Given the description of an element on the screen output the (x, y) to click on. 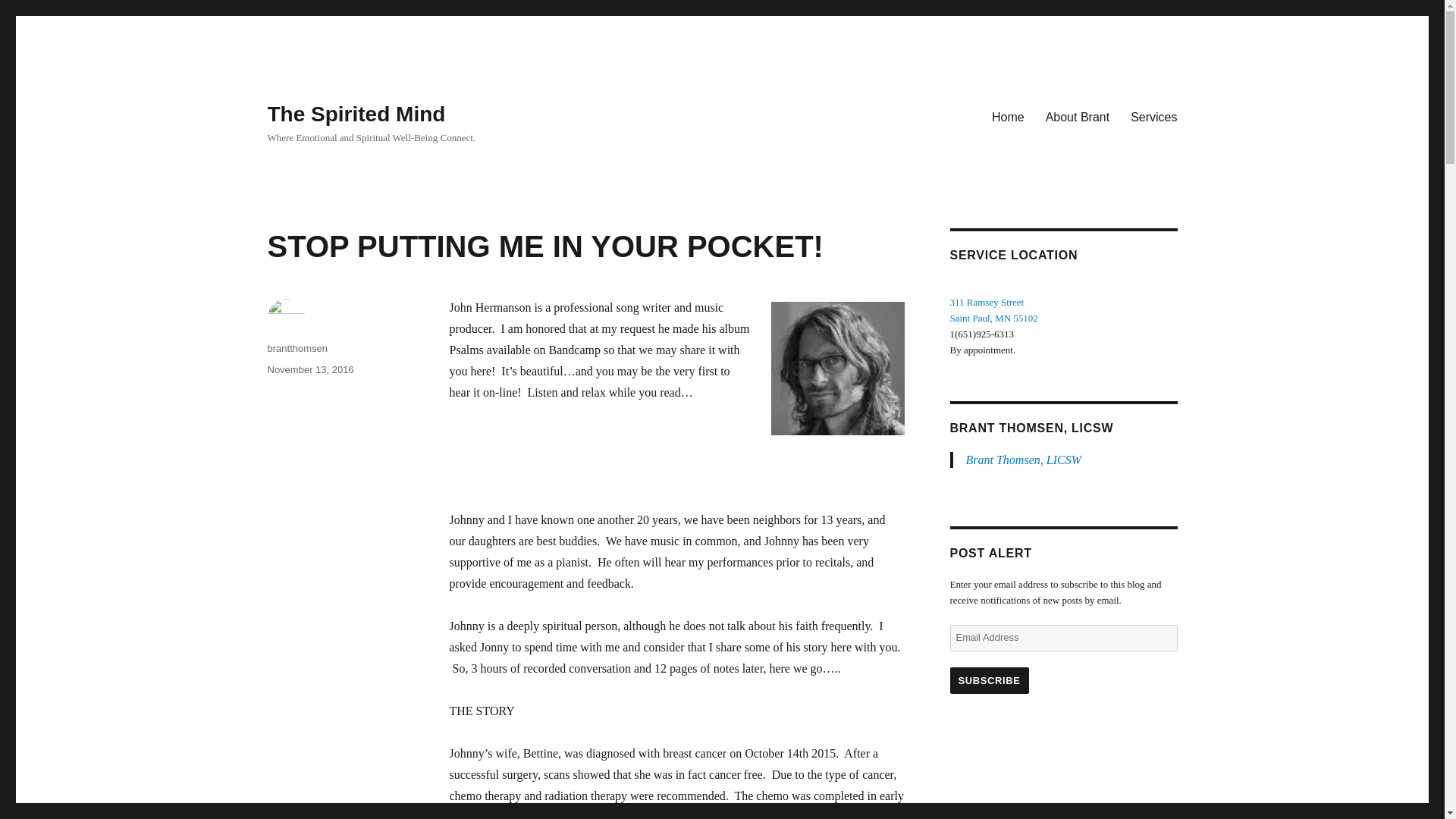
The Spirited Mind (355, 114)
BRANT THOMSEN, LICSW (1031, 427)
SUBSCRIBE (988, 680)
November 13, 2016 (309, 369)
Brant Thomsen, LICSW (1023, 459)
About Brant (1078, 116)
Home (1008, 116)
Services (992, 317)
brantthomsen (1153, 116)
